Given the description of an element on the screen output the (x, y) to click on. 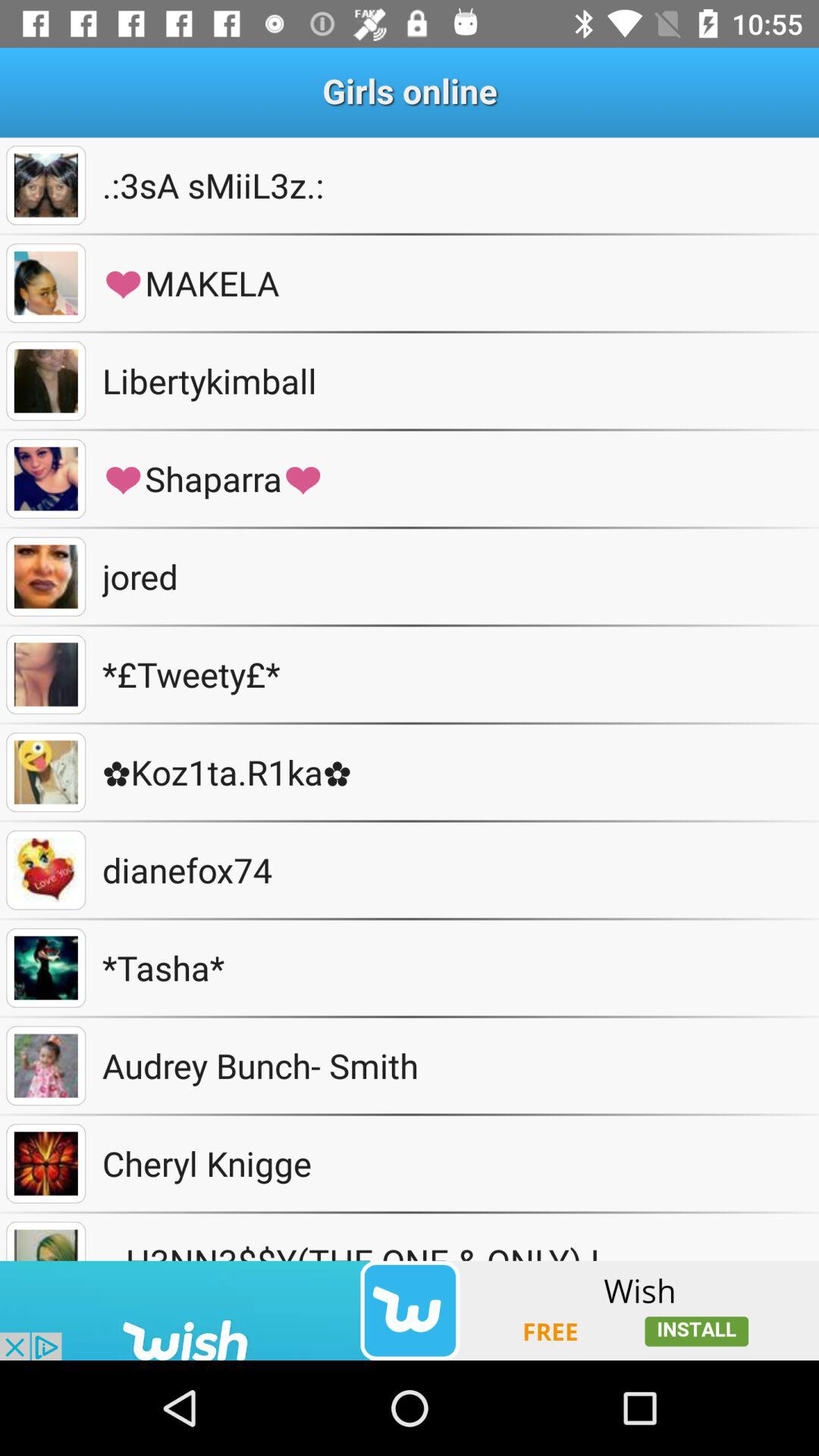
user icon (45, 870)
